Given the description of an element on the screen output the (x, y) to click on. 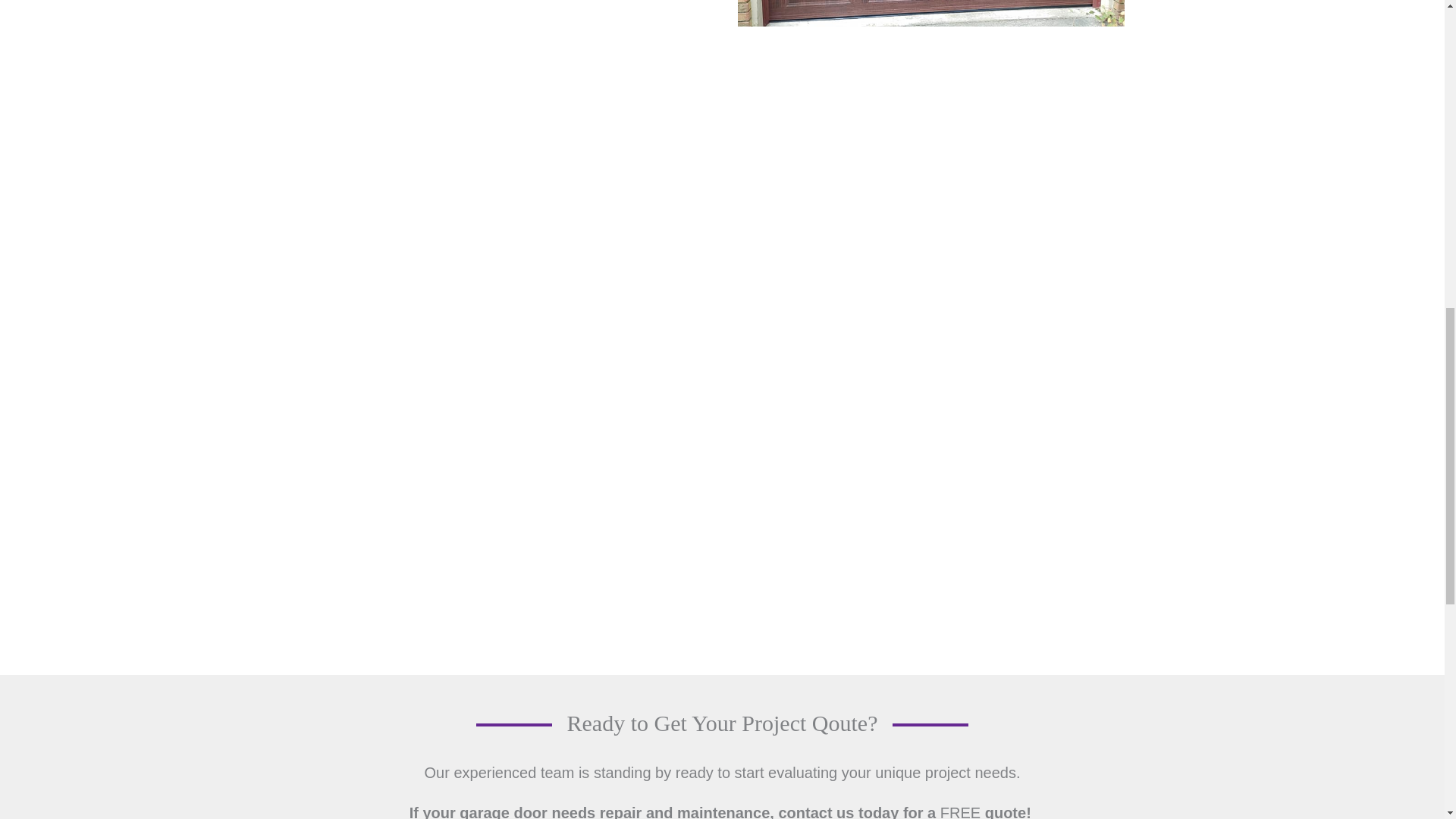
New Construction (930, 13)
